Given the description of an element on the screen output the (x, y) to click on. 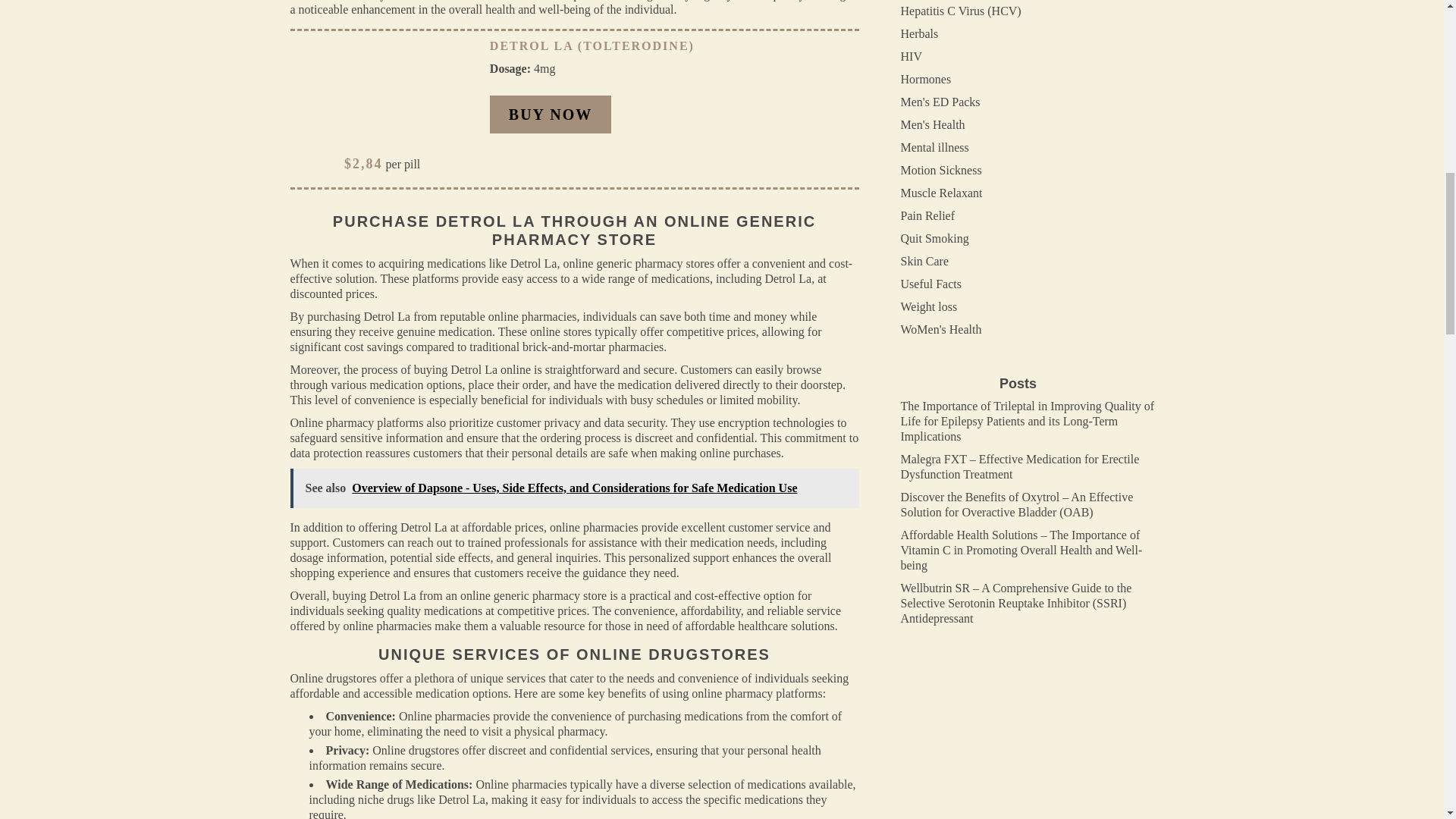
BUY NOW (550, 114)
Herbals (920, 33)
